Given the description of an element on the screen output the (x, y) to click on. 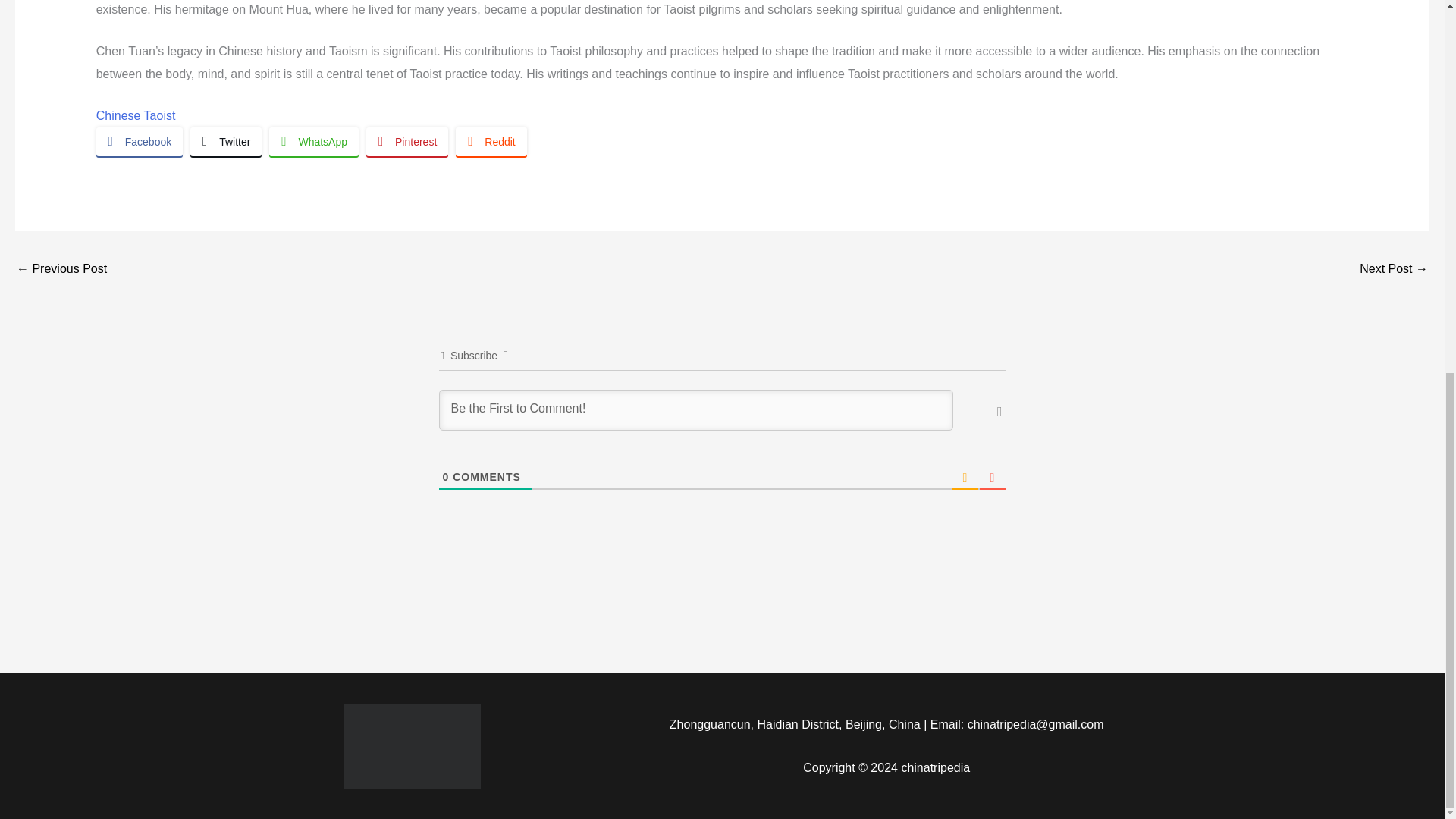
How was the Temple of Heaven built (1393, 270)
0 (445, 476)
The geology of Mount Hua (61, 270)
